Given the description of an element on the screen output the (x, y) to click on. 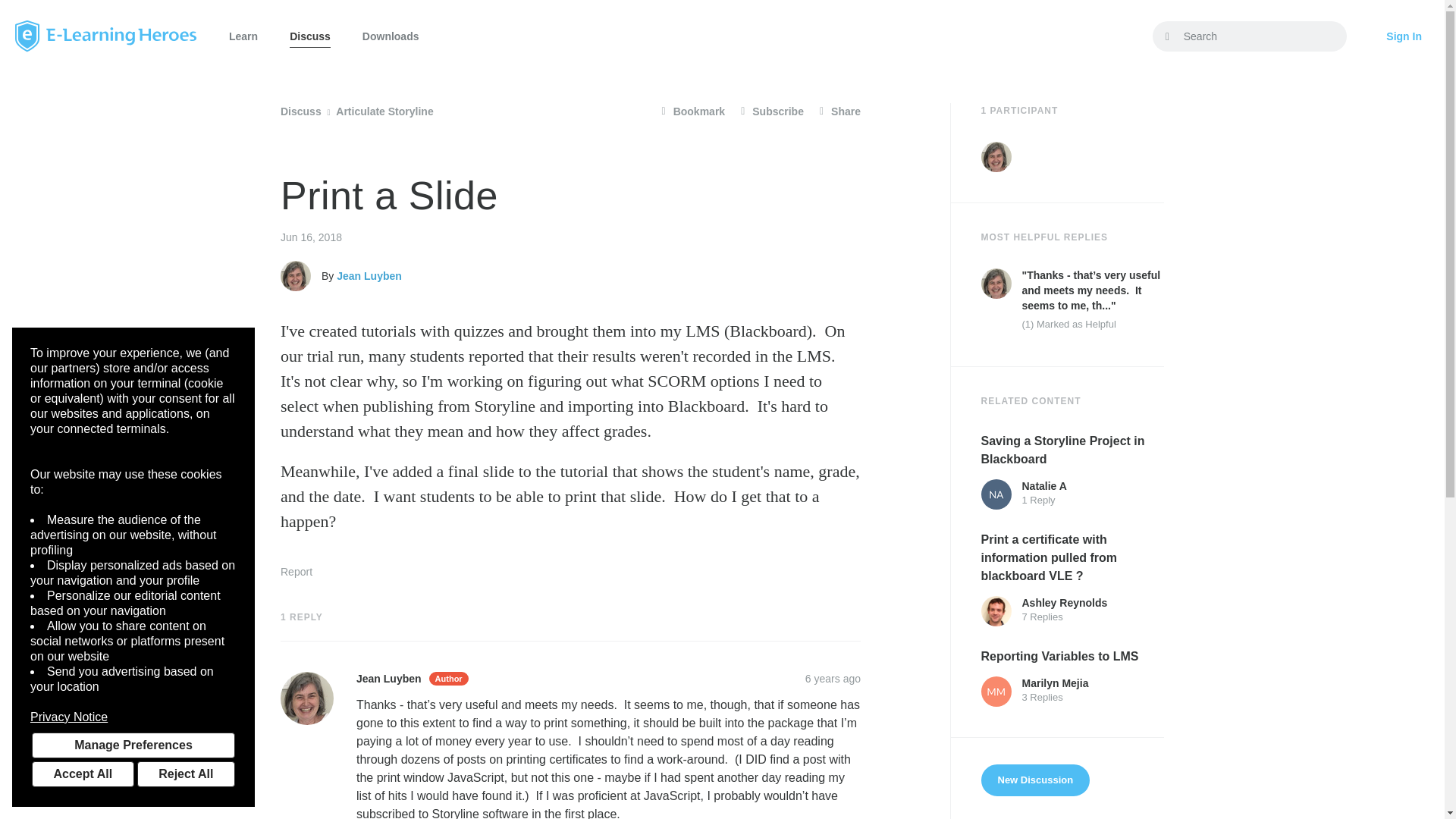
Jean Luyben (996, 156)
Copy URL to Clipboard (832, 678)
Ashley Reynolds (996, 611)
Natalie A (996, 494)
Accept All (82, 774)
Sign In (1404, 36)
Marilyn Mejia (996, 691)
Jean Luyben (996, 283)
Reject All (185, 774)
Jean Luyben (296, 276)
E-Learning Heroes (105, 36)
Jean Luyben (307, 697)
Manage Preferences (133, 745)
Privacy Notice (132, 717)
